Given the description of an element on the screen output the (x, y) to click on. 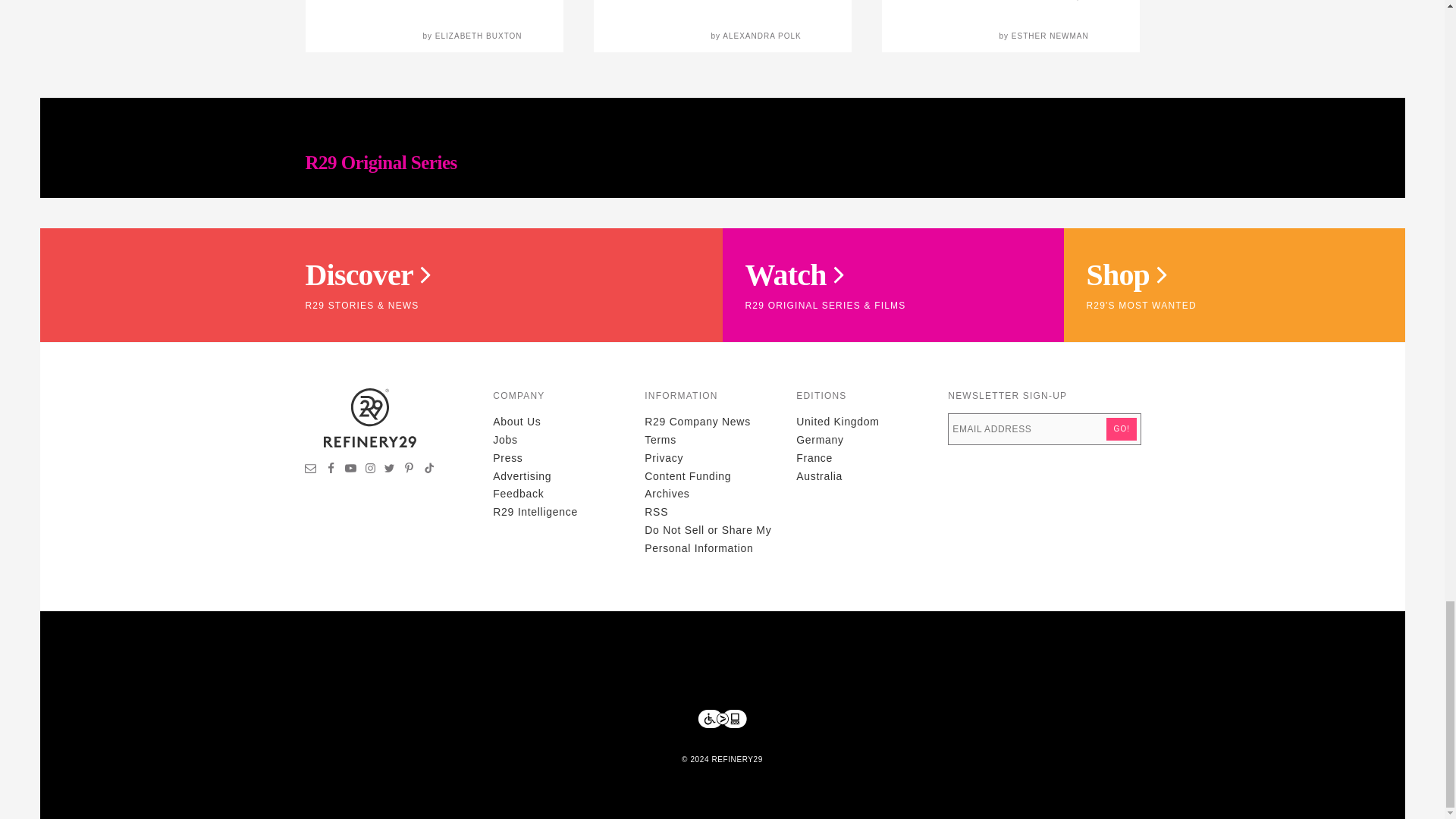
Visit Refinery29 on TikTok (428, 469)
Sign up for newsletters (310, 469)
Visit Refinery29 on YouTube (350, 469)
